Given the description of an element on the screen output the (x, y) to click on. 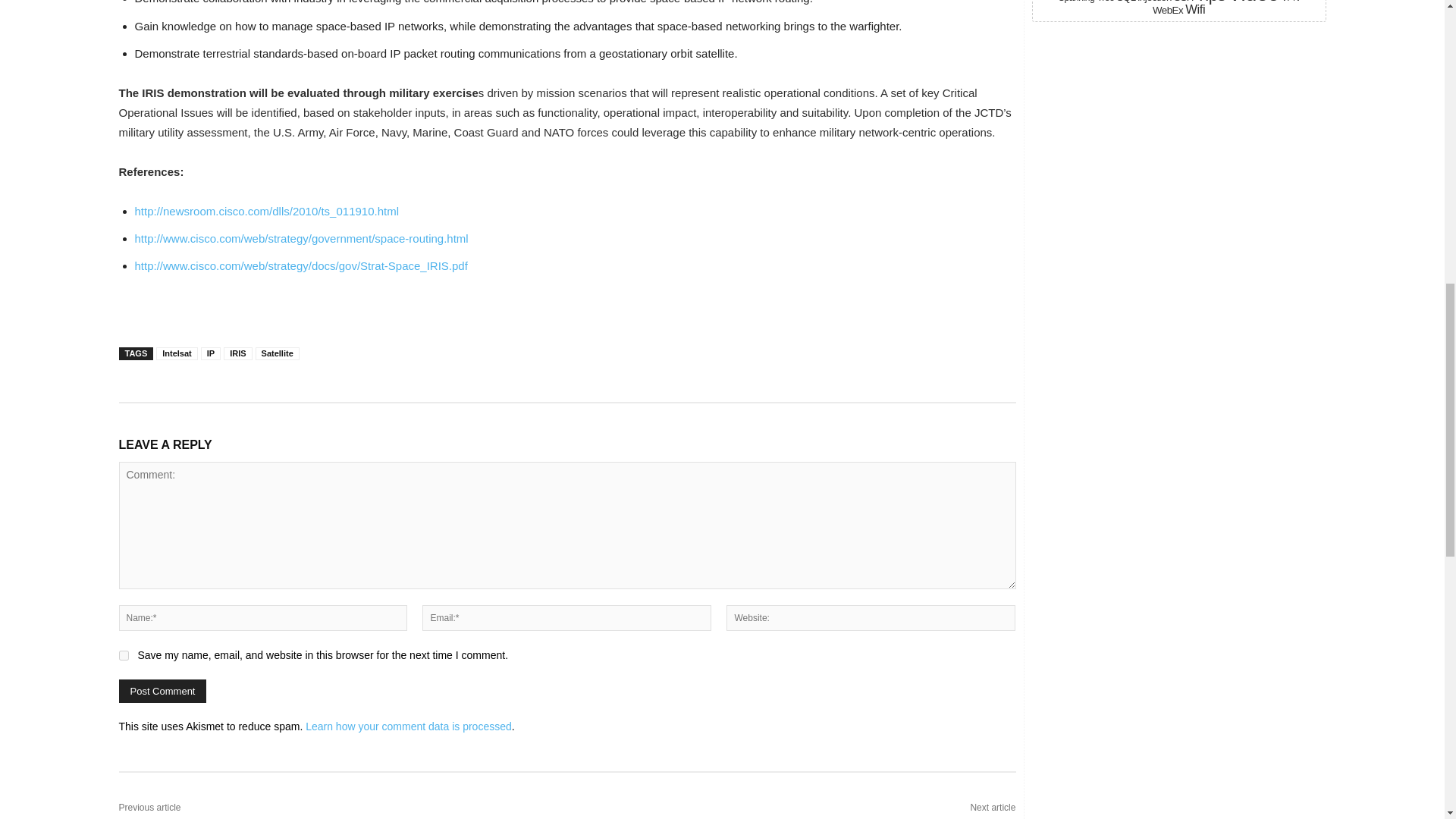
IP (210, 353)
Satellite (277, 353)
IRIS (237, 353)
Post Comment (161, 690)
yes (122, 655)
Learn how your comment data is processed (408, 726)
Intelsat (176, 353)
Post Comment (161, 690)
